Given the description of an element on the screen output the (x, y) to click on. 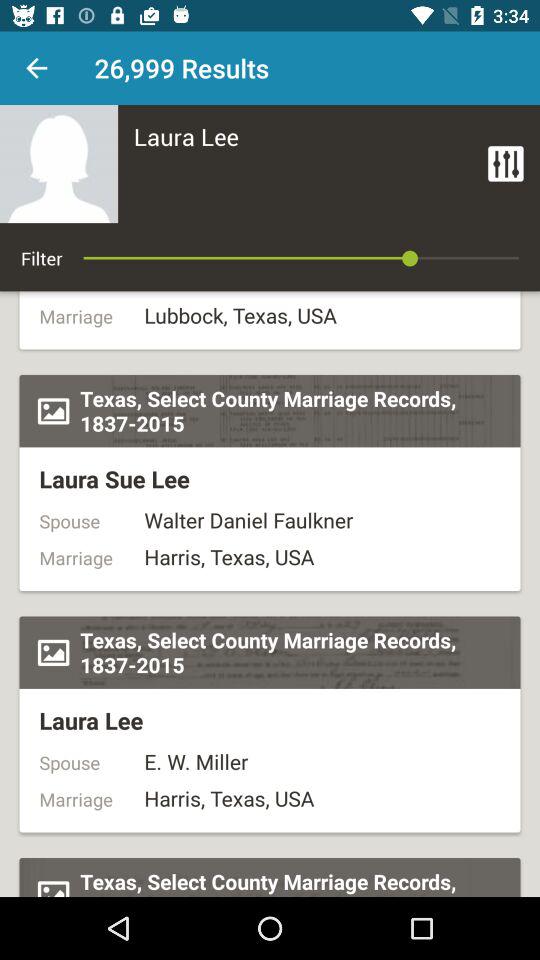
open settings (505, 163)
